Given the description of an element on the screen output the (x, y) to click on. 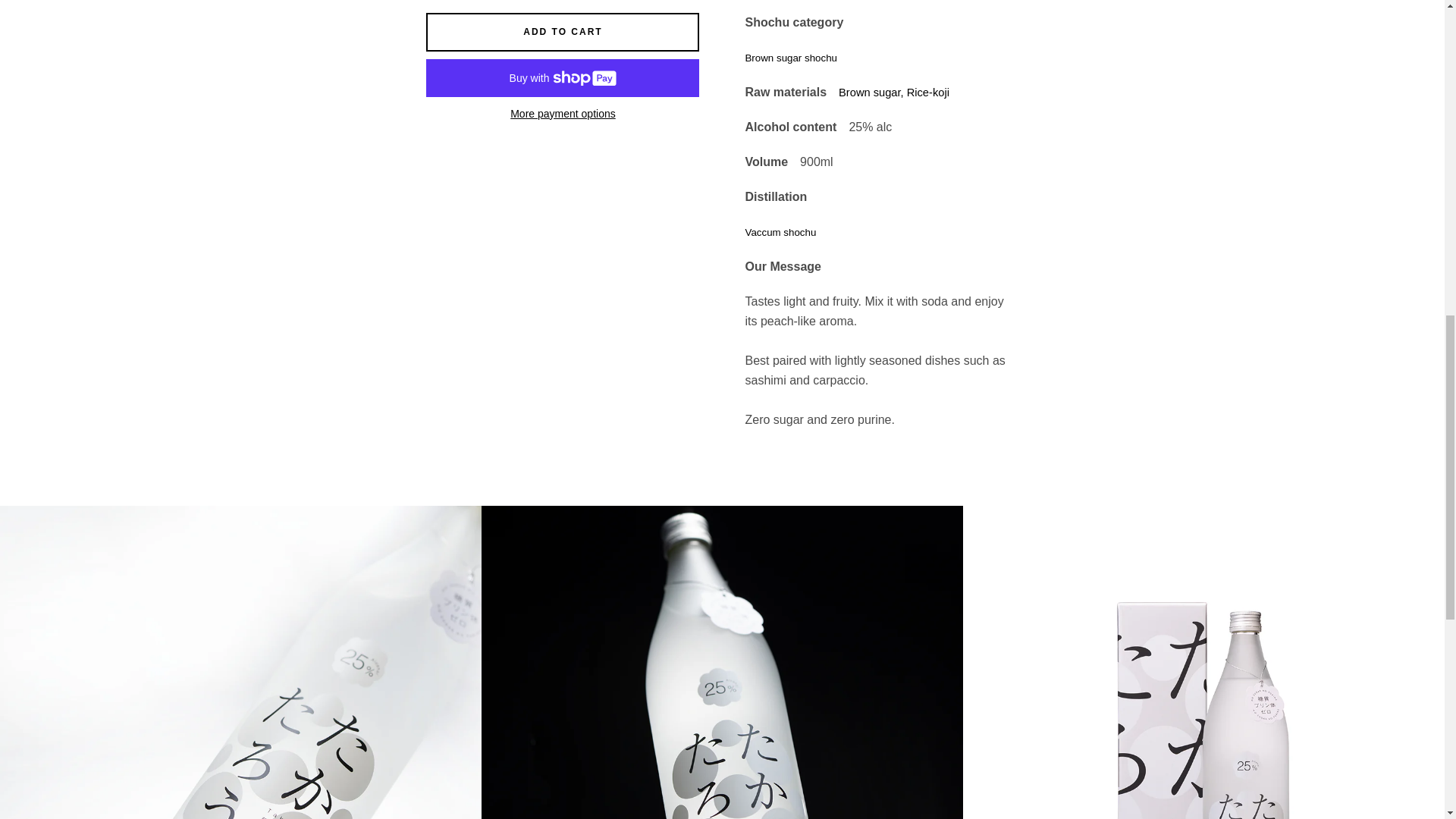
More payment options (562, 114)
ADD TO CART (562, 31)
